Given the description of an element on the screen output the (x, y) to click on. 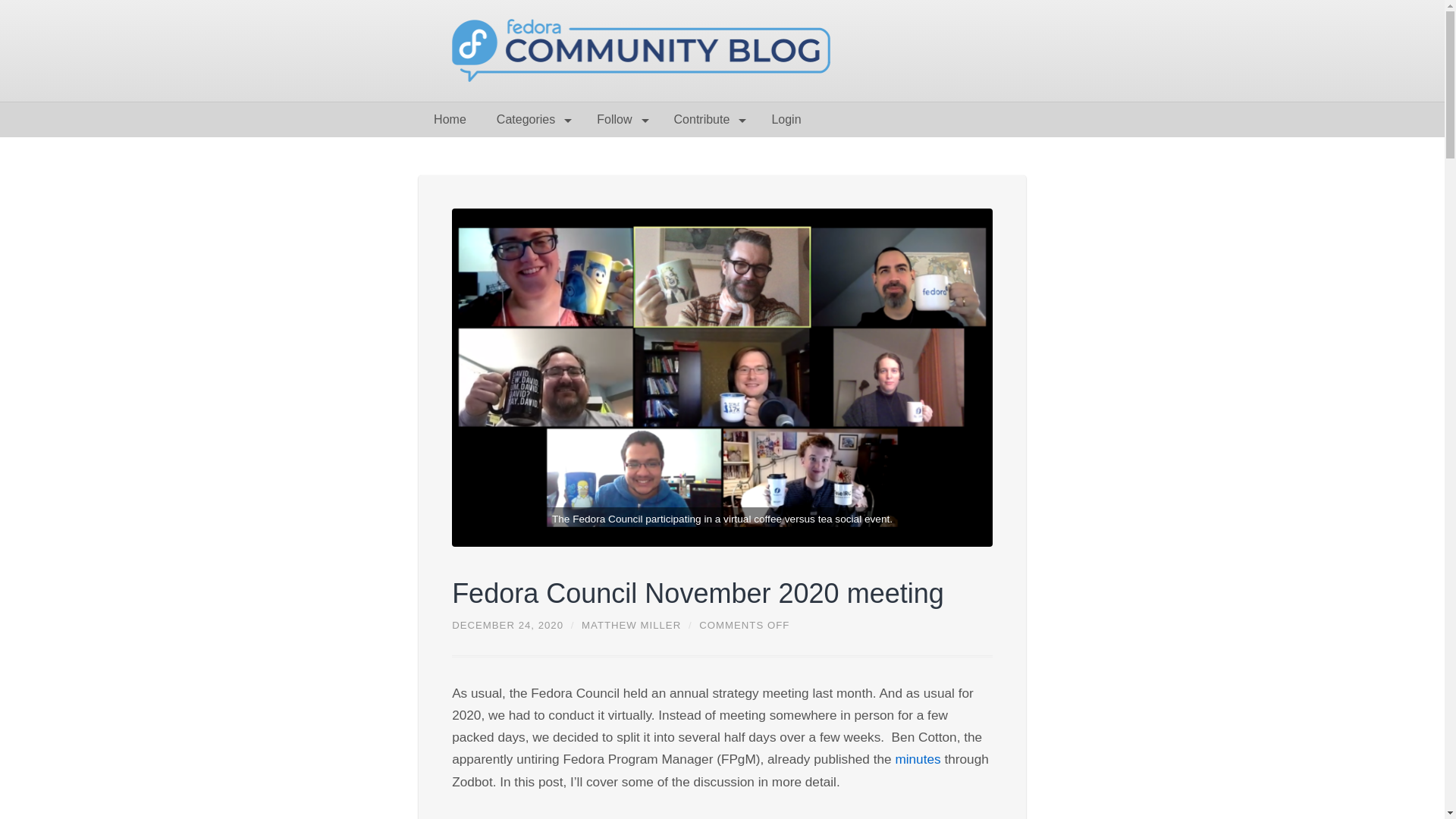
Home (450, 119)
Login (785, 119)
Follow (619, 119)
Contribute (706, 119)
Fedora Council November 2020 meeting (697, 592)
Categories (530, 119)
